Given the description of an element on the screen output the (x, y) to click on. 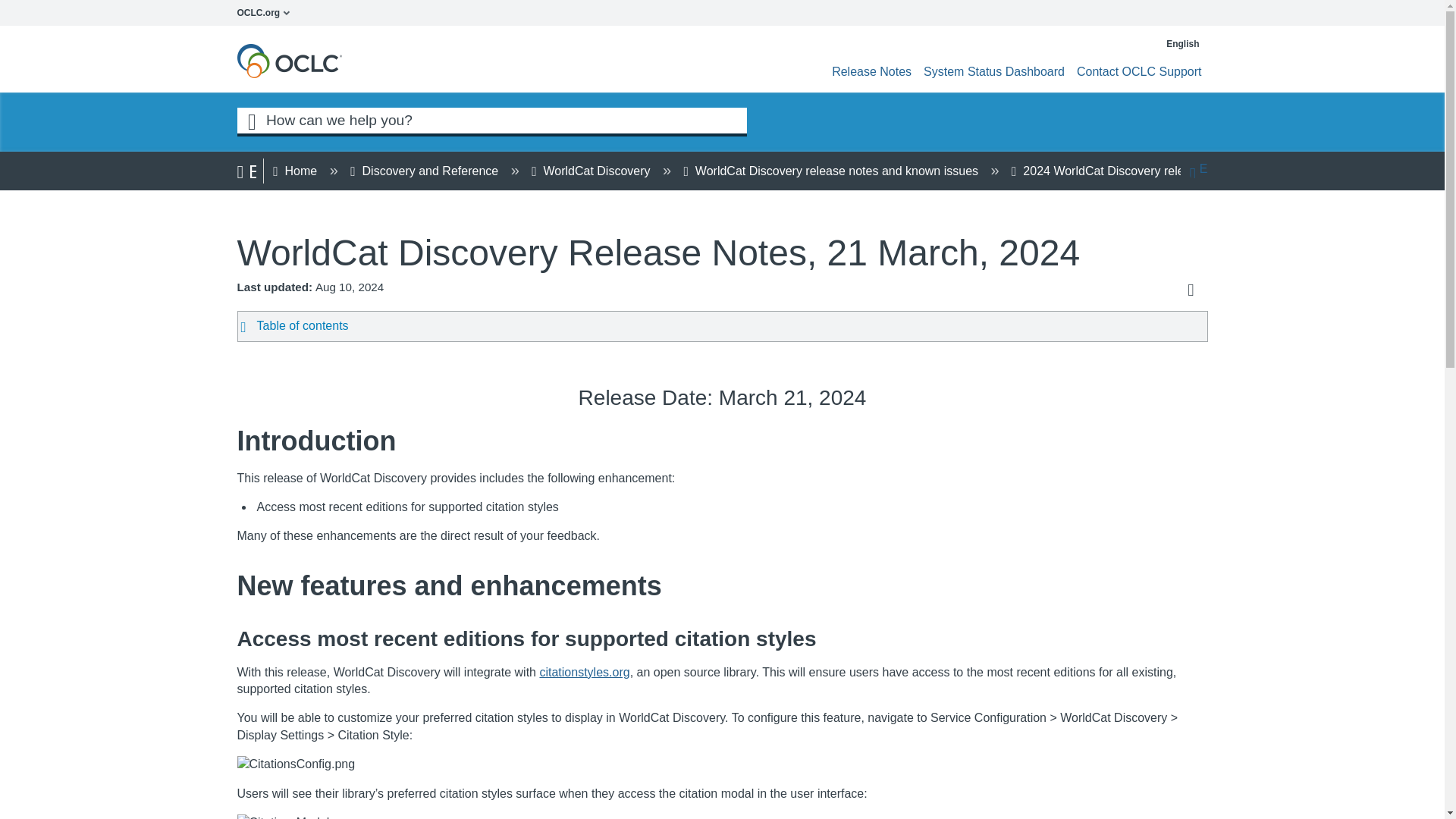
Search (250, 120)
System Status Dashboard (993, 71)
Discovery and Reference (425, 170)
OCLC.org (266, 12)
OCLC.org Home (266, 12)
WorldCat Discovery release notes and known issues (832, 170)
WorldCat Discovery (592, 170)
English (1177, 43)
Release Notes (871, 71)
Table of contents (698, 325)
